Given the description of an element on the screen output the (x, y) to click on. 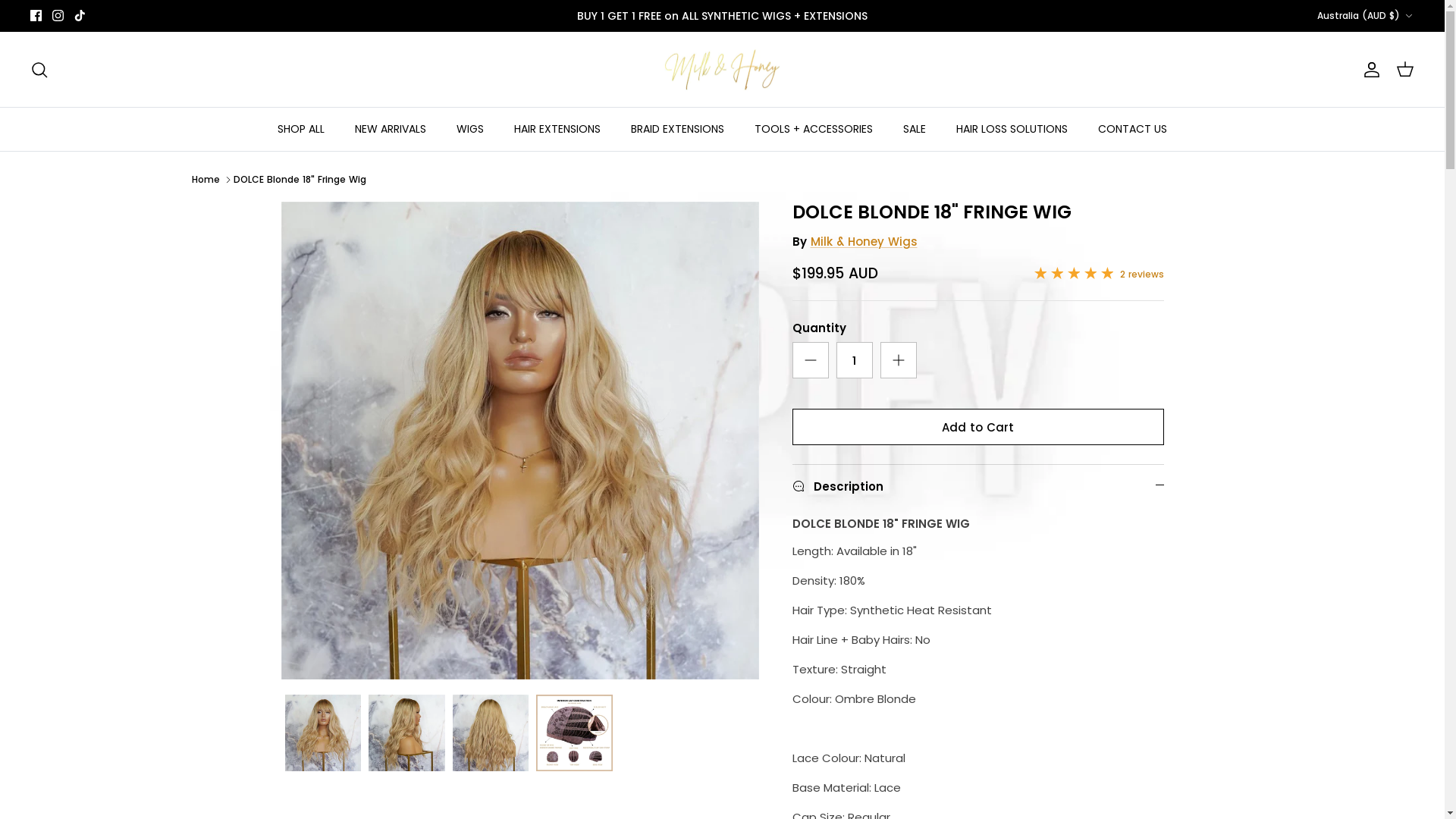
Instagram Element type: text (57, 15)
HAIR LOSS SOLUTIONS Element type: text (1011, 128)
Plus Element type: text (897, 360)
DOLCE Blonde 18" Fringe Wig Element type: text (299, 178)
TOOLS + ACCESSORIES Element type: text (813, 128)
2 reviews Element type: text (1099, 273)
Cart Element type: text (1405, 69)
HAIR EXTENSIONS Element type: text (557, 128)
WIGS Element type: text (469, 128)
Milk & Honey Element type: hover (722, 69)
Search Element type: text (39, 69)
Australia (AUD $)
Down Element type: text (1365, 15)
Add to Cart Element type: text (977, 426)
Facebook Element type: text (35, 15)
BRAID EXTENSIONS Element type: text (677, 128)
CONTACT US Element type: text (1132, 128)
Home Element type: text (205, 178)
Milk & Honey Wigs Element type: text (862, 241)
NEW ARRIVALS Element type: text (390, 128)
Account Element type: text (1368, 69)
Minus Element type: text (809, 360)
SALE Element type: text (914, 128)
SHOP ALL Element type: text (300, 128)
